Given the description of an element on the screen output the (x, y) to click on. 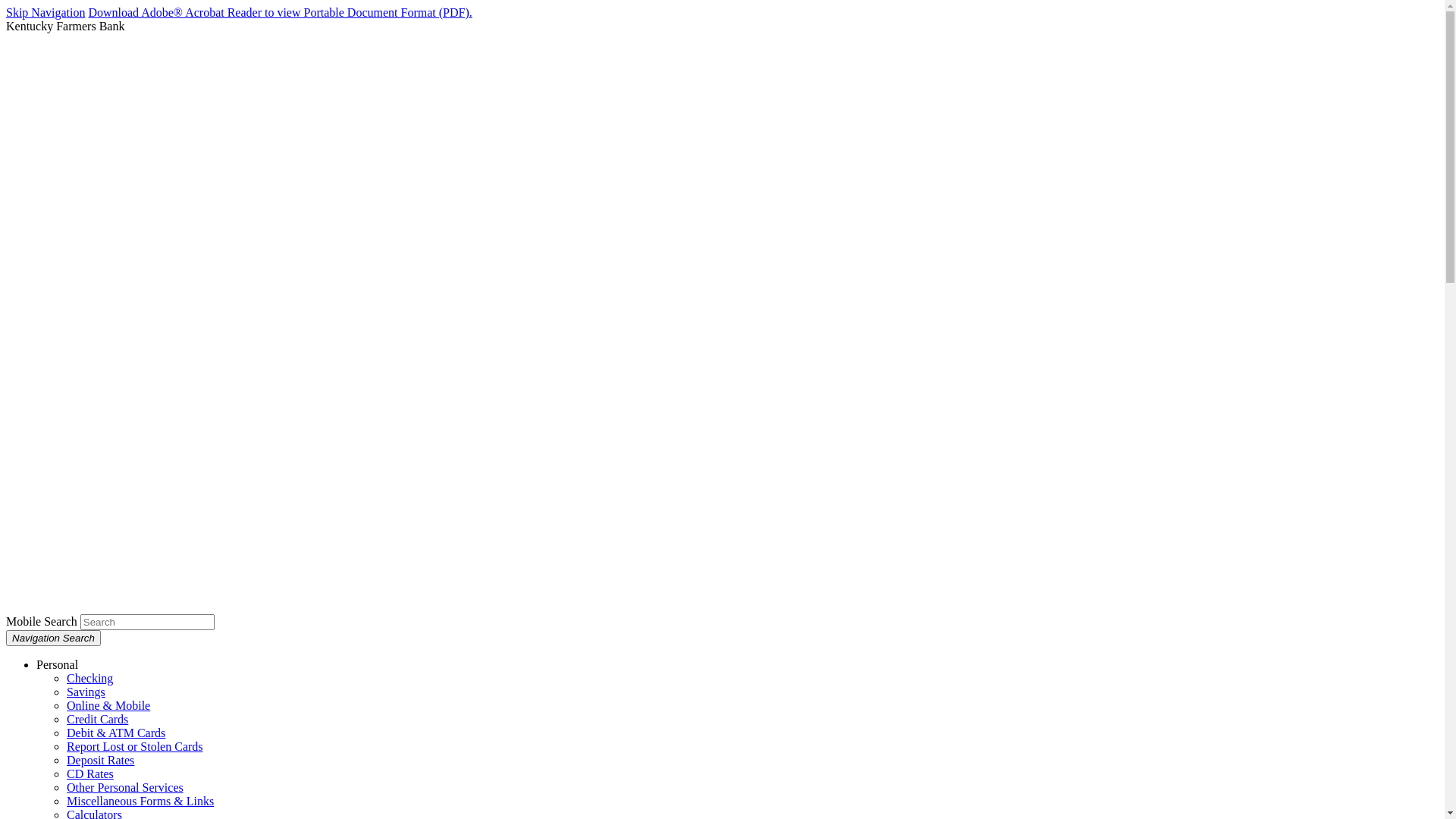
Deposit Rates Element type: text (100, 759)
Kentucky Farmers Bank, Catlettsburg, KY Element type: hover (722, 606)
Credit Cards Element type: text (97, 718)
Checking Element type: text (89, 677)
Report Lost or Stolen Cards Element type: text (134, 746)
Skip Navigation Element type: text (45, 12)
Online & Mobile Element type: text (108, 705)
Miscellaneous Forms & Links Element type: text (139, 800)
CD Rates Element type: text (89, 773)
Debit & ATM Cards Element type: text (115, 732)
Savings Element type: text (85, 691)
Other Personal Services Element type: text (124, 787)
Navigation Search Element type: text (53, 638)
